Given the description of an element on the screen output the (x, y) to click on. 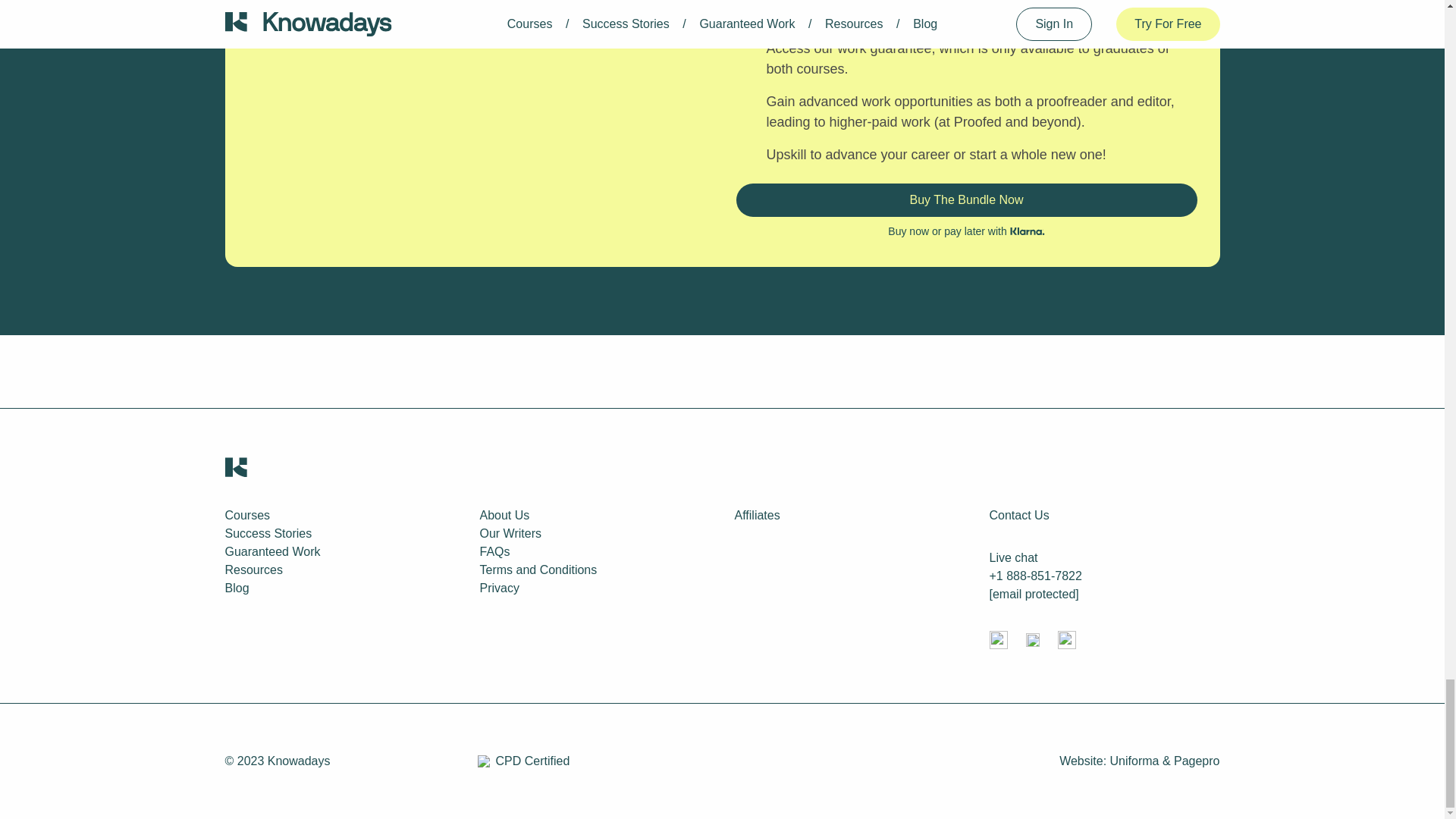
Guaranteed Work (272, 551)
Privacy (498, 587)
FAQs (494, 551)
Buy The Bundle Now (965, 200)
Courses (246, 514)
Success Stories (267, 533)
Blog (236, 587)
Our Writers (509, 533)
About Us (504, 514)
Terms and Conditions (537, 569)
Resources (253, 569)
